Given the description of an element on the screen output the (x, y) to click on. 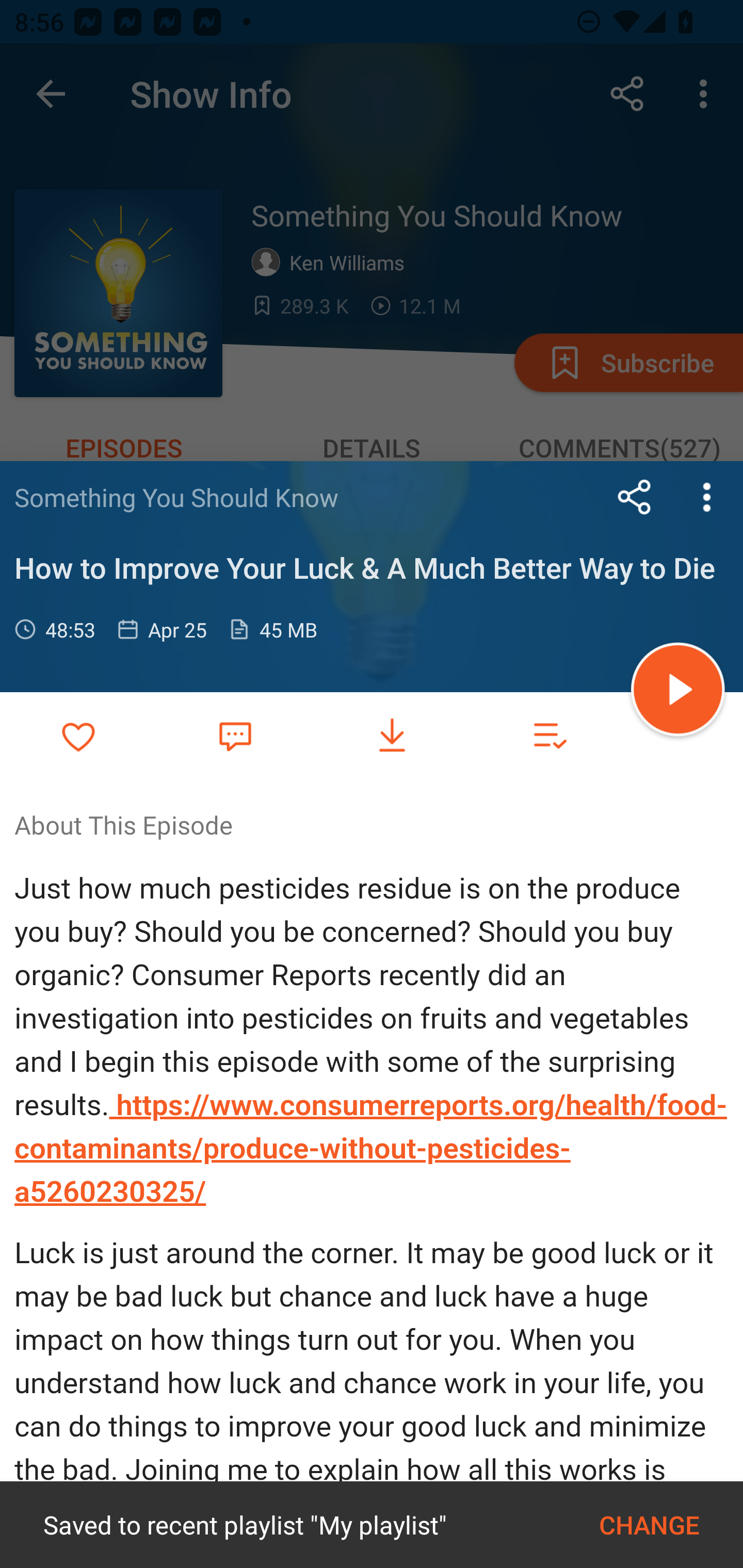
Share (634, 496)
more options (706, 496)
Play (677, 692)
Favorite (234, 735)
Add to Favorites (78, 735)
Download (391, 735)
Add to playlist (548, 735)
Saved to recent playlist "My playlist" CHANGE (371, 1524)
CHANGE (648, 1524)
